Given the description of an element on the screen output the (x, y) to click on. 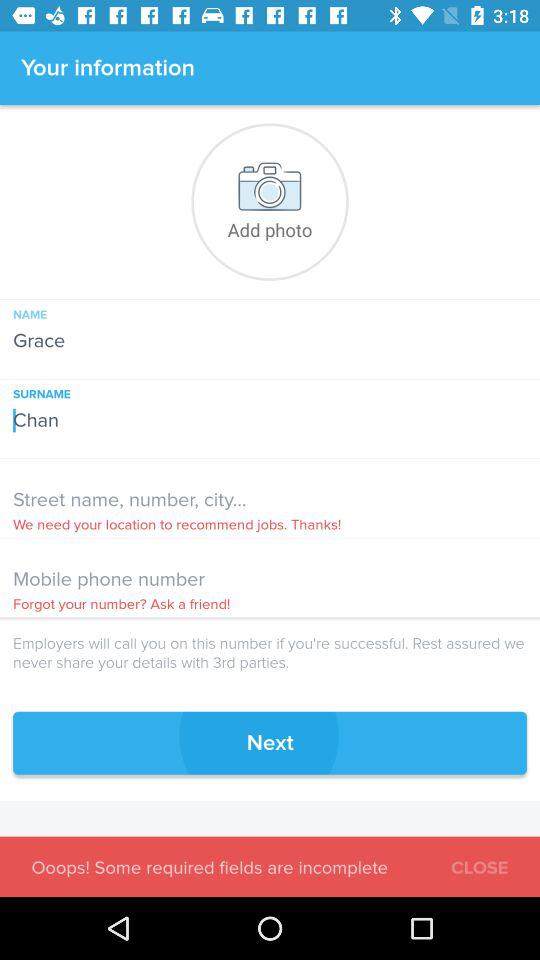
turn off the item above the close (269, 742)
